Given the description of an element on the screen output the (x, y) to click on. 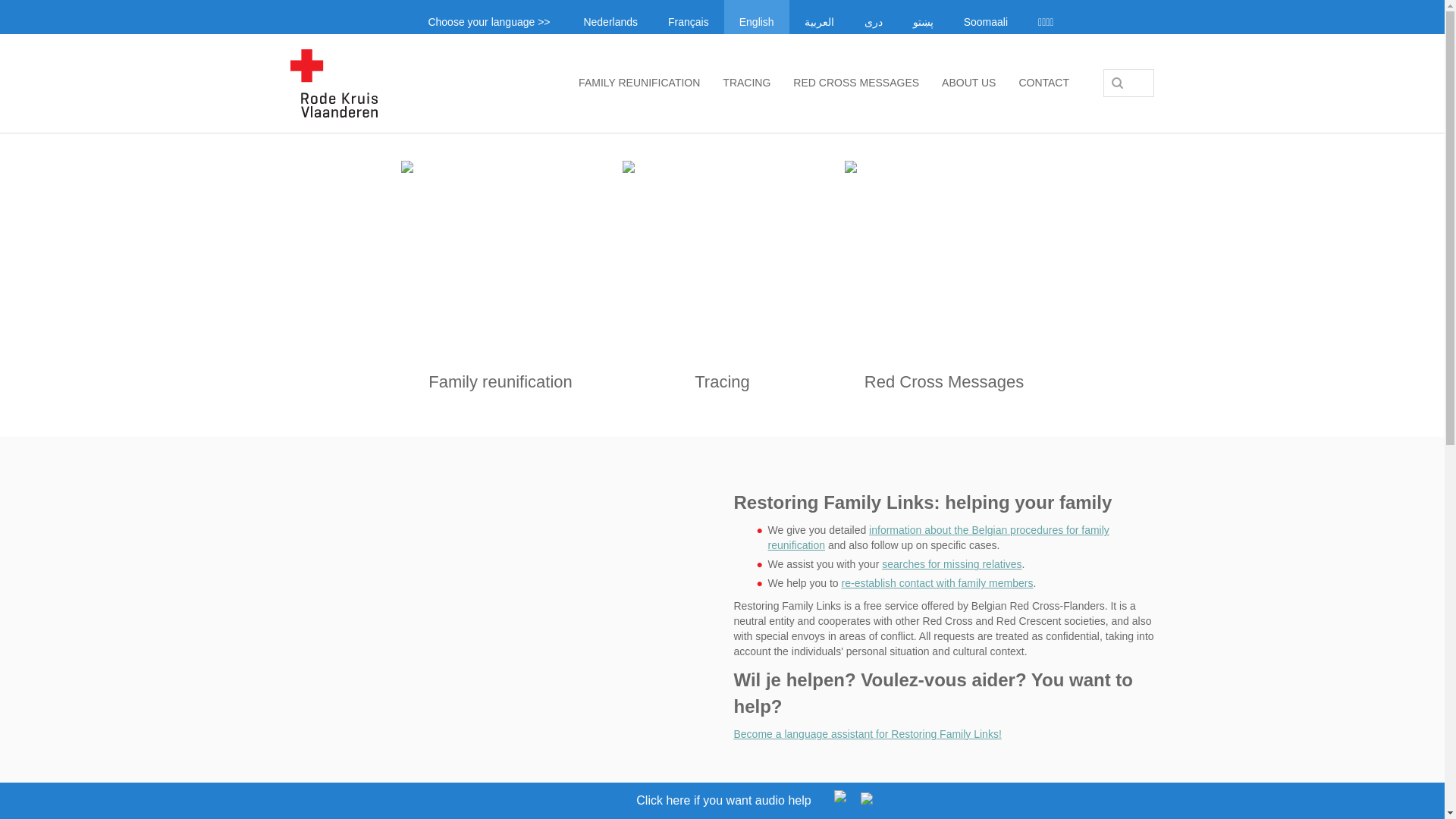
Soomaali (986, 17)
Red Cross Messages (943, 279)
FAMILY REUNIFICATION (639, 82)
RED CROSS MESSAGES (855, 82)
English (756, 17)
Become a language assistant for Restoring Family Links! (867, 734)
searches for missing relatives (952, 563)
re-establish contact with family members (937, 582)
Family reunification (500, 279)
